Given the description of an element on the screen output the (x, y) to click on. 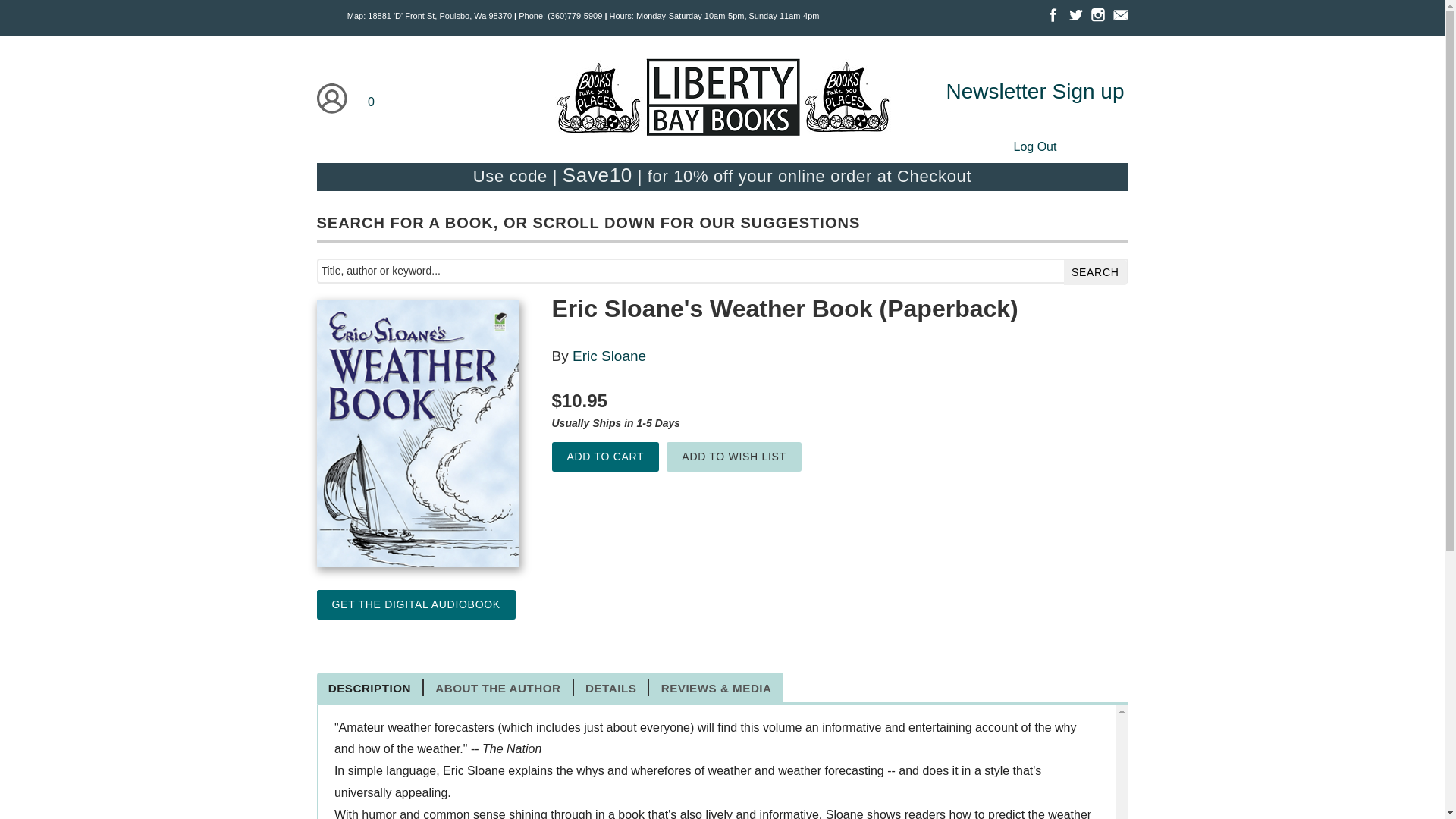
Get the Digital Audiobook (416, 604)
DETAILS (611, 687)
Newsletter Sign up (1034, 91)
Eric Sloane (609, 355)
Add to Cart (605, 456)
Get the Digital Audiobook (416, 604)
Log Out (1035, 146)
Add to Cart (605, 456)
search (1095, 272)
search (1095, 272)
Map (354, 15)
DESCRIPTION (371, 687)
ABOUT THE AUTHOR (498, 687)
ADD TO WISH LIST (733, 456)
